Given the description of an element on the screen output the (x, y) to click on. 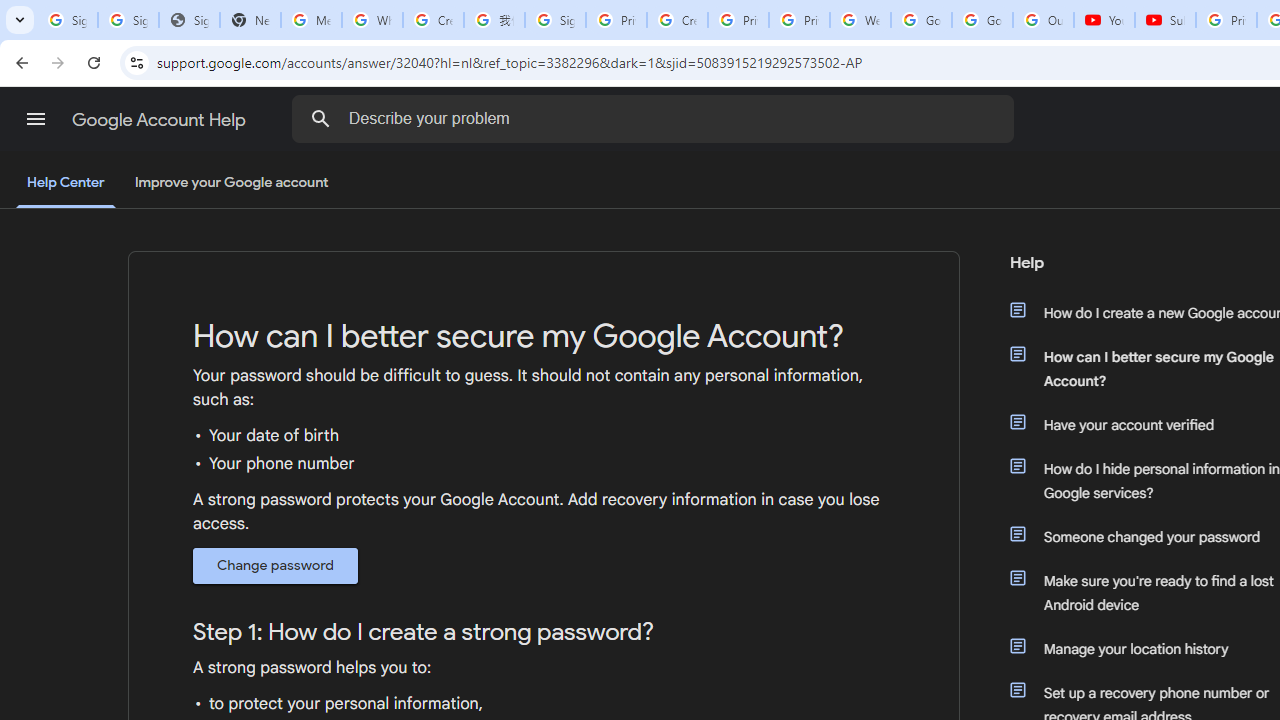
Sign in - Google Accounts (128, 20)
Welcome to My Activity (859, 20)
Sign in - Google Accounts (555, 20)
Describe your problem (655, 118)
Google Account Help (160, 119)
Create your Google Account (676, 20)
